Given the description of an element on the screen output the (x, y) to click on. 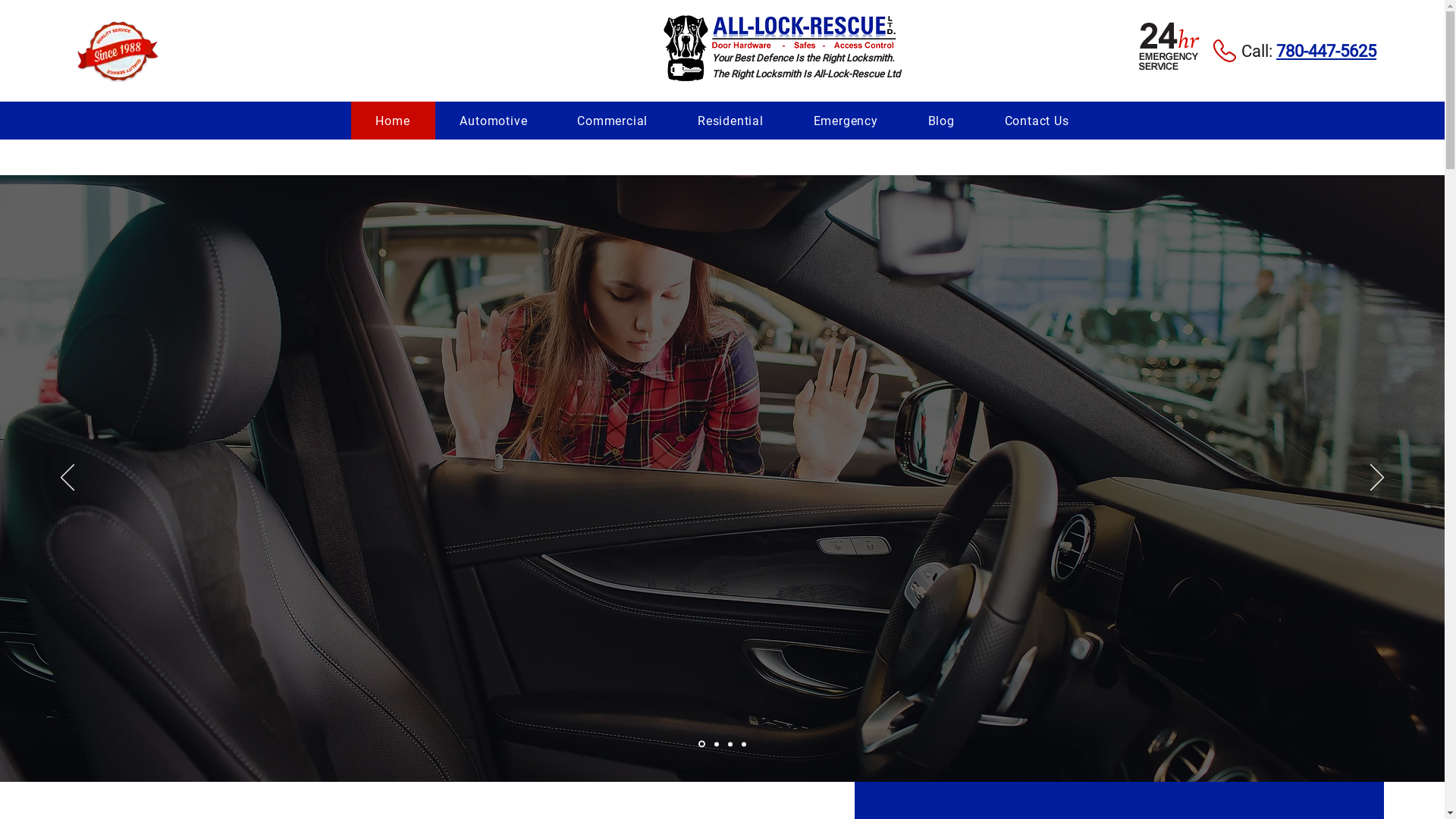
780-447-5625 Element type: text (1326, 50)
Automotive Element type: text (493, 120)
Contact Us Element type: text (1036, 120)
Blog Element type: text (941, 120)
Commercial Element type: text (612, 120)
Home Element type: text (392, 120)
Emergency Element type: text (845, 120)
Residential Element type: text (730, 120)
